Given the description of an element on the screen output the (x, y) to click on. 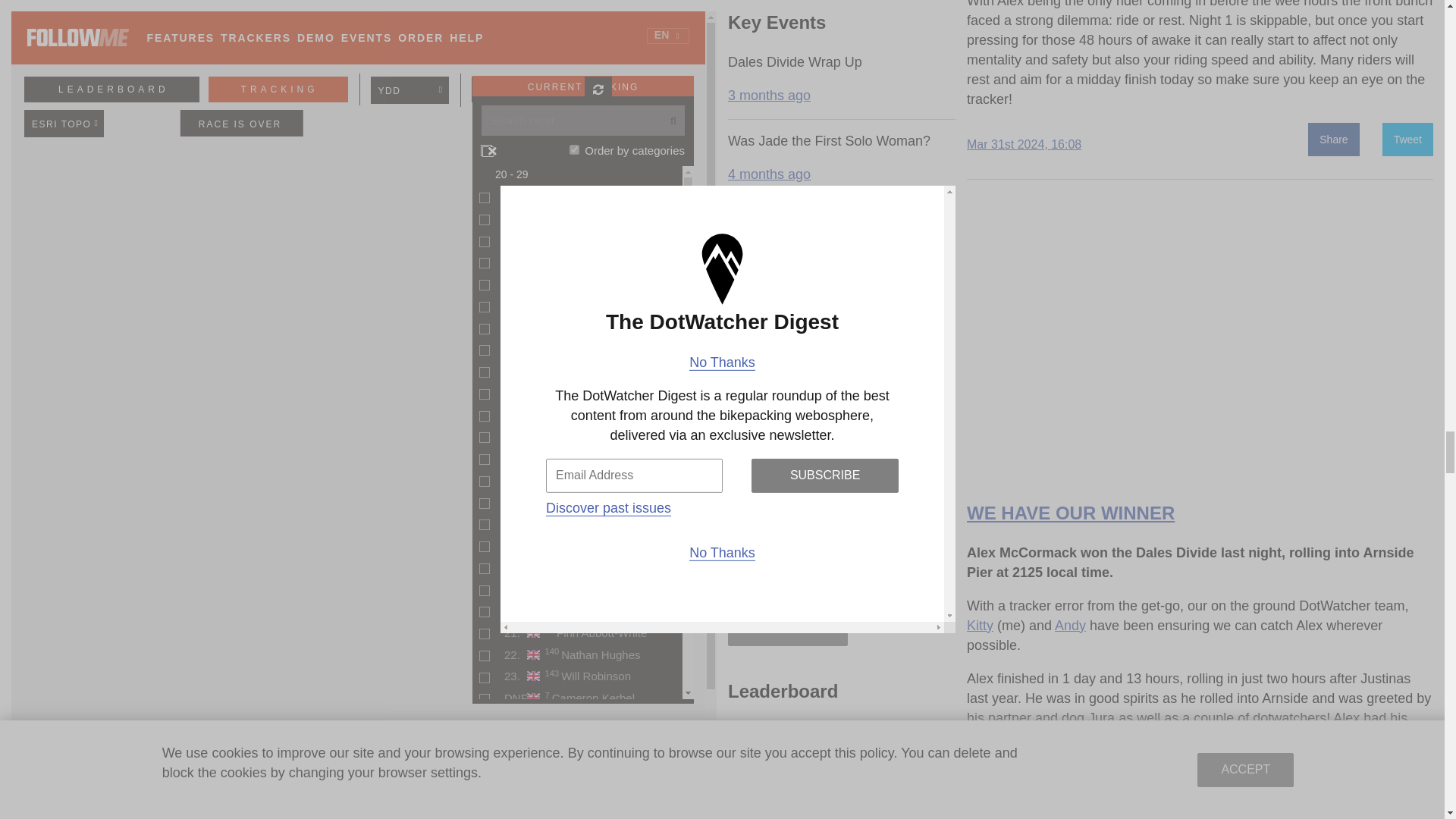
Mar 31st 2024, 16:08 (1023, 144)
